Given the description of an element on the screen output the (x, y) to click on. 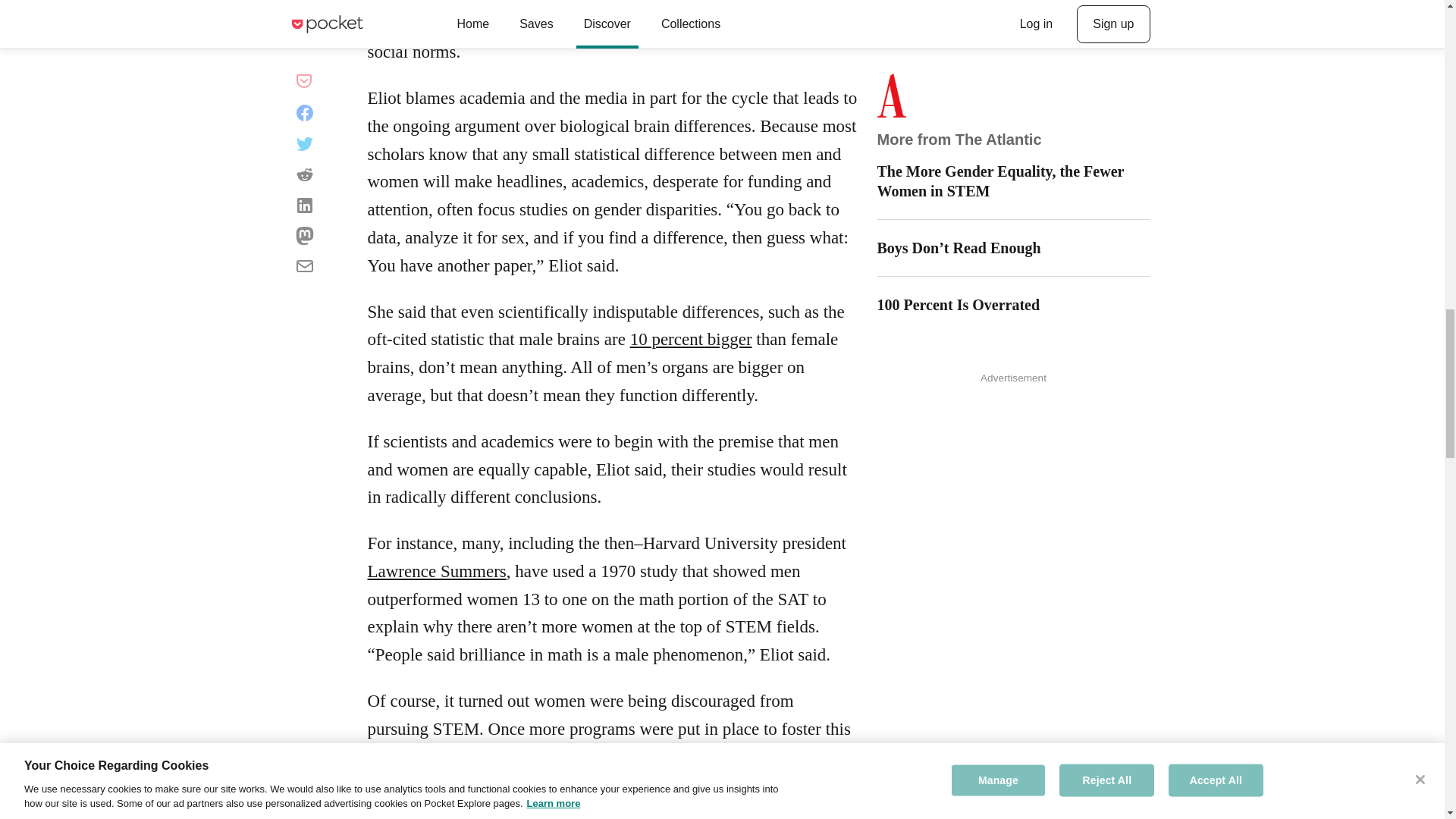
Lawrence Summers (435, 570)
dropped to three to one (629, 756)
10 percent bigger (691, 339)
